Given the description of an element on the screen output the (x, y) to click on. 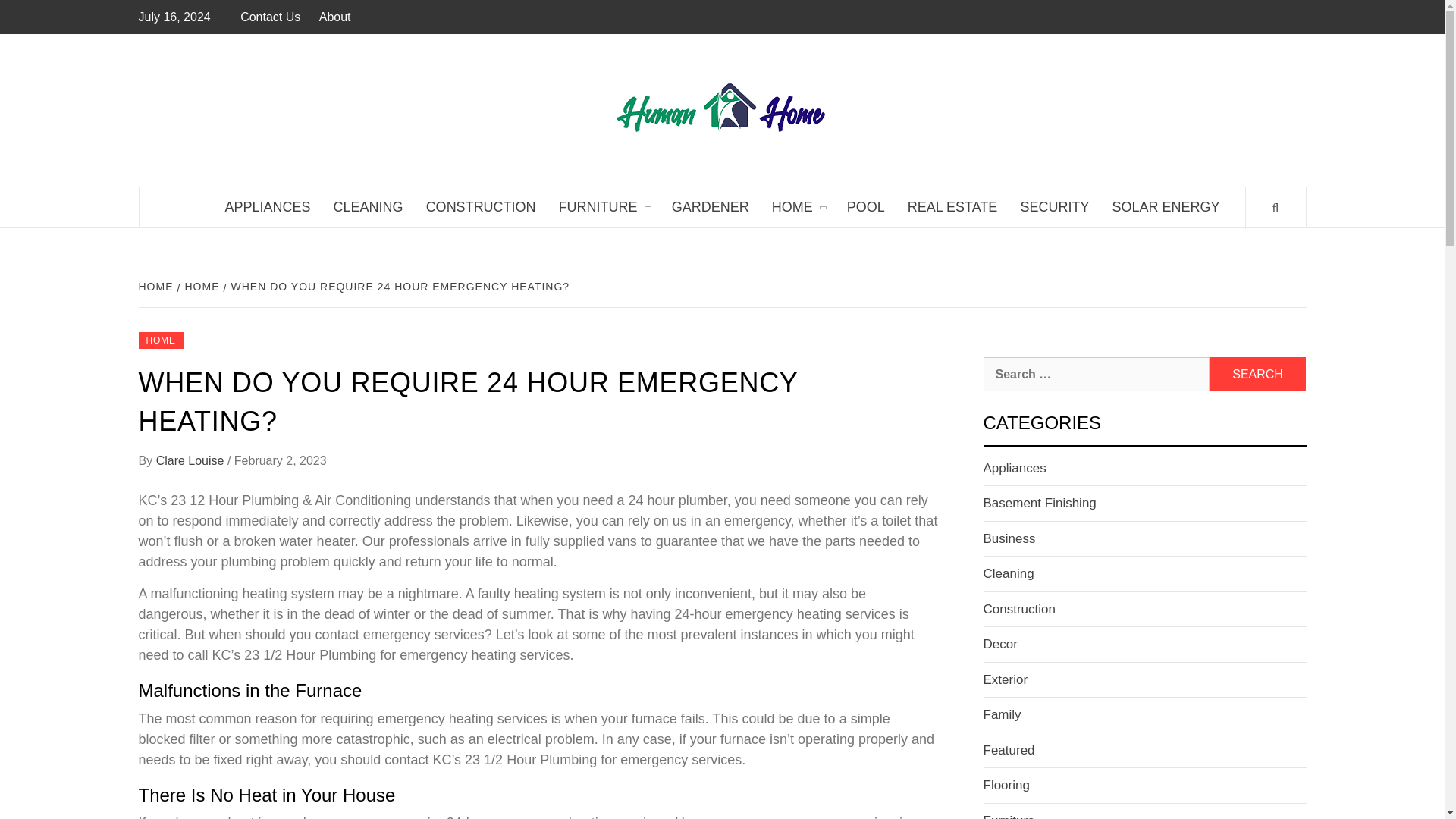
WHEN DO YOU REQUIRE 24 HOUR EMERGENCY HEATING? (397, 286)
About (334, 17)
HUMAN HOME (965, 95)
Contact Us (273, 17)
SECURITY (1054, 207)
FURNITURE (604, 207)
GARDENER (710, 207)
CLEANING (367, 207)
Search (1257, 374)
HOME (200, 286)
REAL ESTATE (952, 207)
Clare Louise (191, 460)
APPLIANCES (267, 207)
Search (1257, 374)
CONSTRUCTION (480, 207)
